Given the description of an element on the screen output the (x, y) to click on. 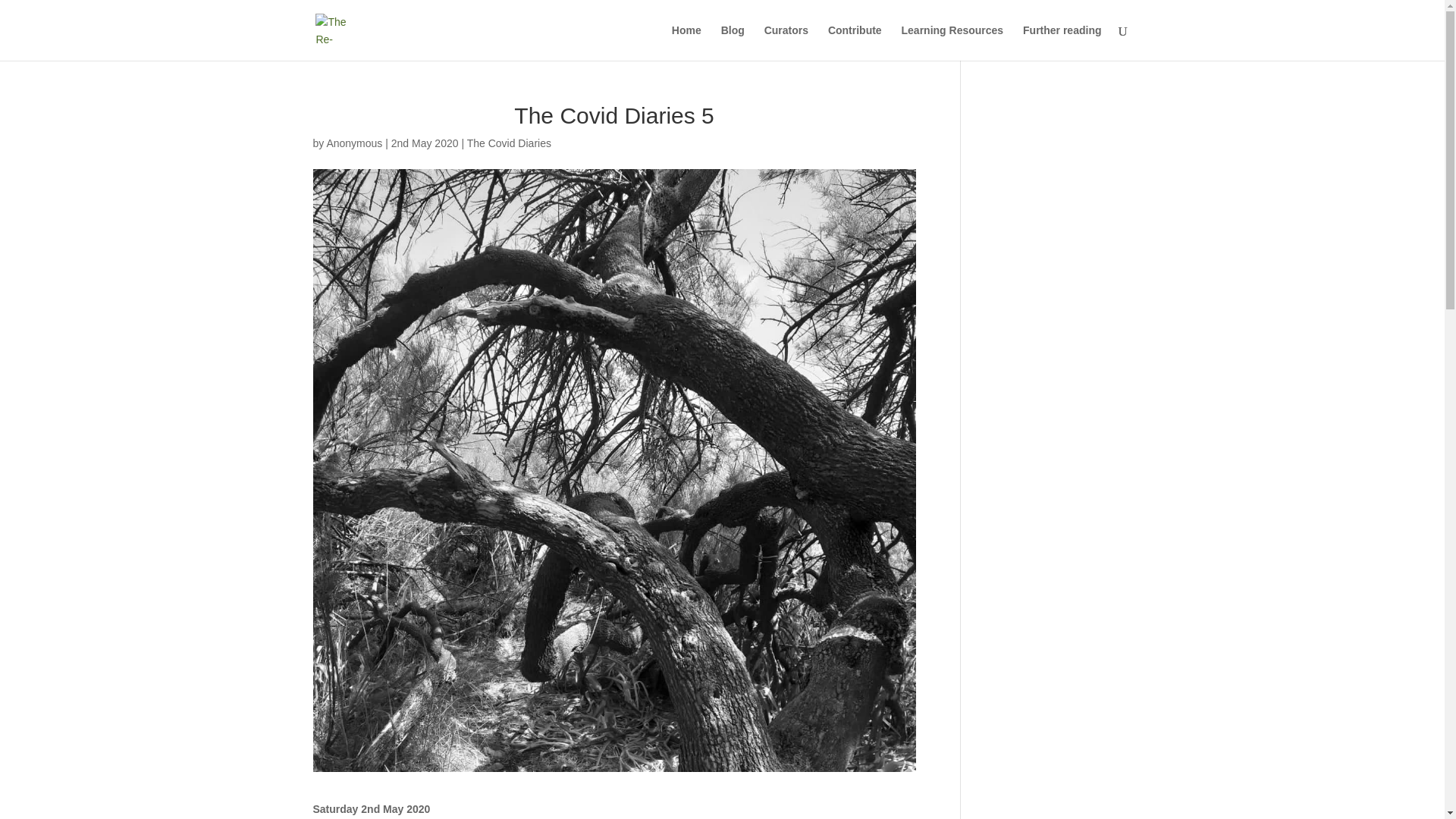
Learning Resources (952, 42)
Posts by Anonymous (353, 143)
Curators (786, 42)
Anonymous (353, 143)
Further reading (1061, 42)
The Covid Diaries (509, 143)
Contribute (855, 42)
